Given the description of an element on the screen output the (x, y) to click on. 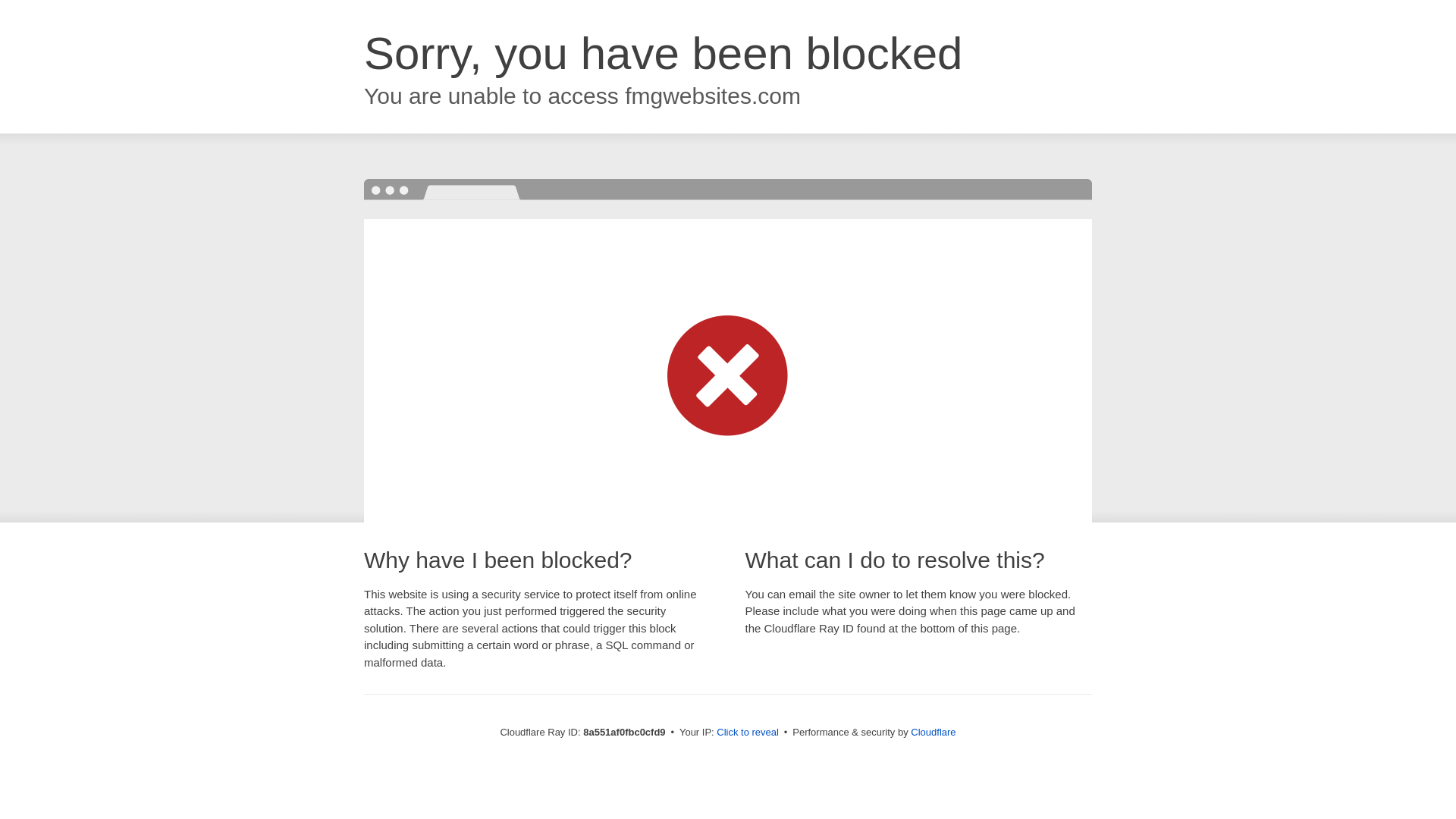
Cloudflare (933, 731)
Click to reveal (747, 732)
